Given the description of an element on the screen output the (x, y) to click on. 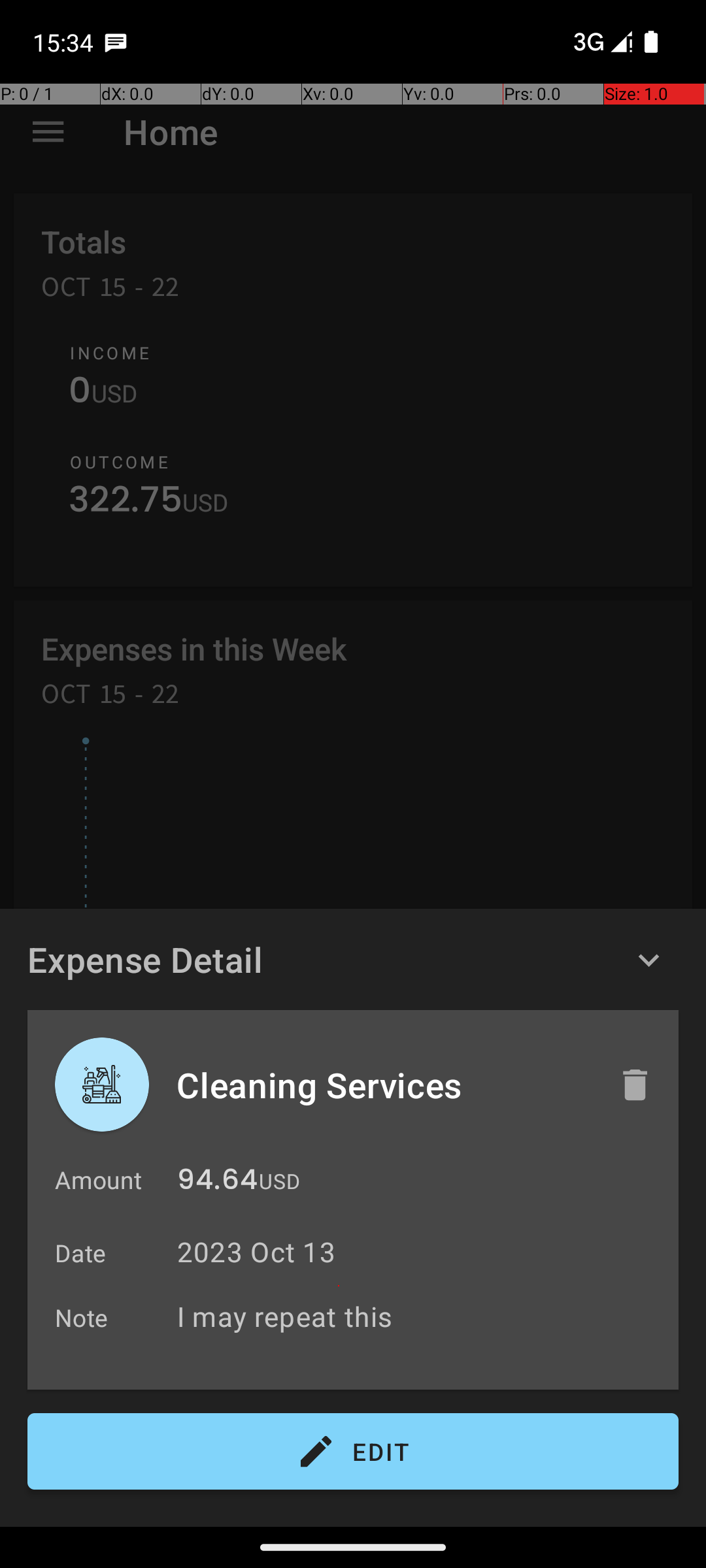
Cleaning Services Element type: android.widget.TextView (383, 1084)
94.64 Element type: android.widget.TextView (217, 1182)
2023 Oct 13 Element type: android.widget.TextView (256, 1251)
I may repeat this Element type: android.widget.TextView (420, 1315)
